Given the description of an element on the screen output the (x, y) to click on. 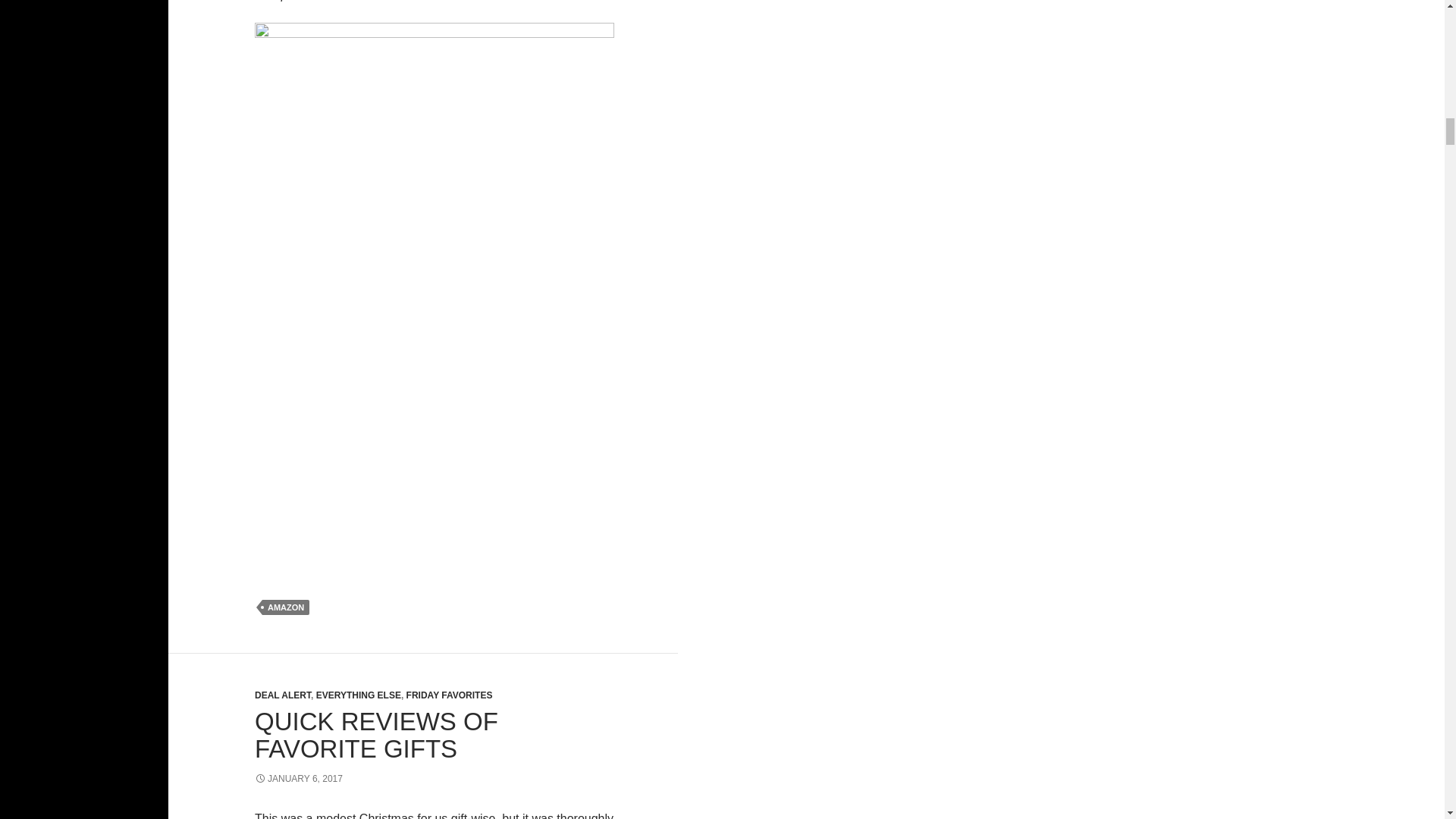
QUICK REVIEWS OF FAVORITE GIFTS (375, 734)
JANUARY 6, 2017 (298, 778)
FRIDAY FAVORITES (449, 695)
DEAL ALERT (282, 695)
AMAZON (285, 607)
EVERYTHING ELSE (358, 695)
